Given the description of an element on the screen output the (x, y) to click on. 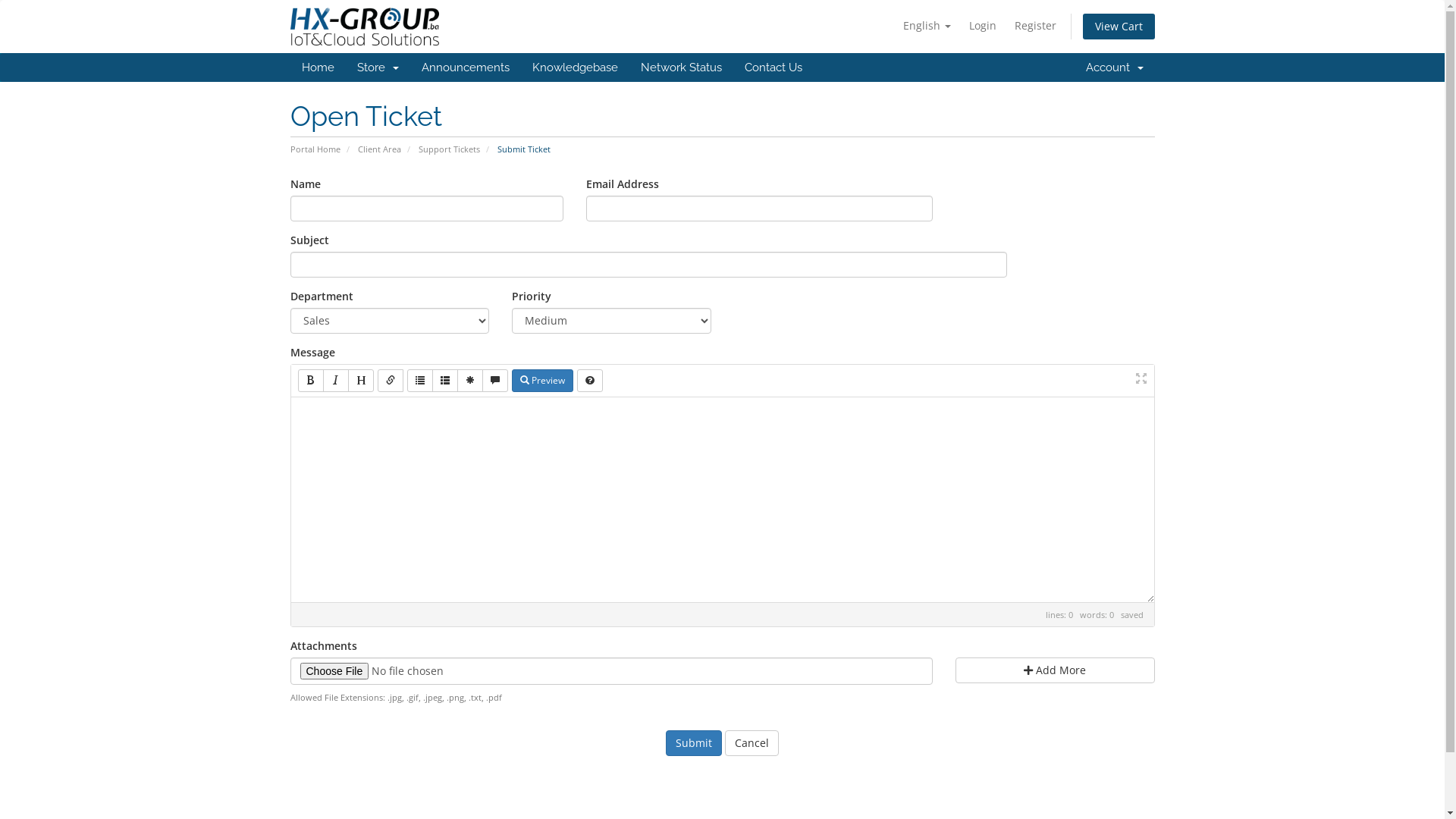
Account   Element type: text (1113, 67)
Announcements Element type: text (464, 67)
Add More Element type: text (1054, 670)
Network Status Element type: text (681, 67)
Knowledgebase Element type: text (574, 67)
Support Tickets Element type: text (449, 148)
Store   Element type: text (377, 67)
Login Element type: text (982, 25)
Contact Us Element type: text (772, 67)
Client Area Element type: text (379, 148)
Register Element type: text (1035, 25)
Heading Element type: hover (360, 380)
Home Element type: text (317, 67)
Bold Element type: hover (310, 380)
Quote Element type: hover (495, 380)
Unordered List Element type: hover (419, 380)
Help Element type: hover (589, 380)
View Cart Element type: text (1118, 26)
English Element type: text (925, 25)
Ordered List Element type: hover (445, 380)
URL/Link Element type: hover (390, 380)
Italic Element type: hover (335, 380)
Cancel Element type: text (751, 743)
Code Element type: hover (469, 380)
Submit Element type: text (693, 743)
Portal Home Element type: text (314, 148)
Preview Element type: text (541, 380)
